Given the description of an element on the screen output the (x, y) to click on. 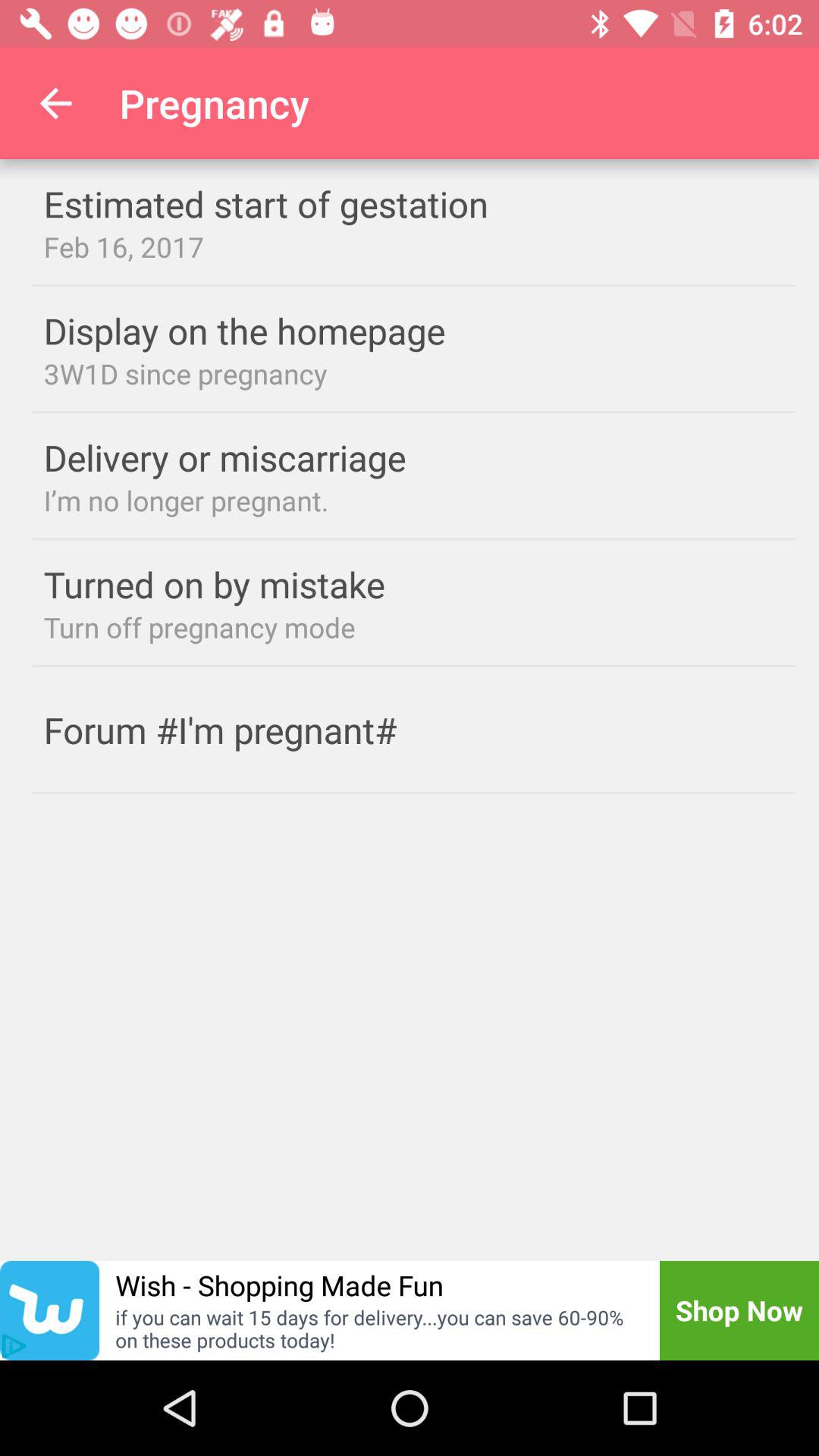
jump to turned on by item (243, 584)
